Given the description of an element on the screen output the (x, y) to click on. 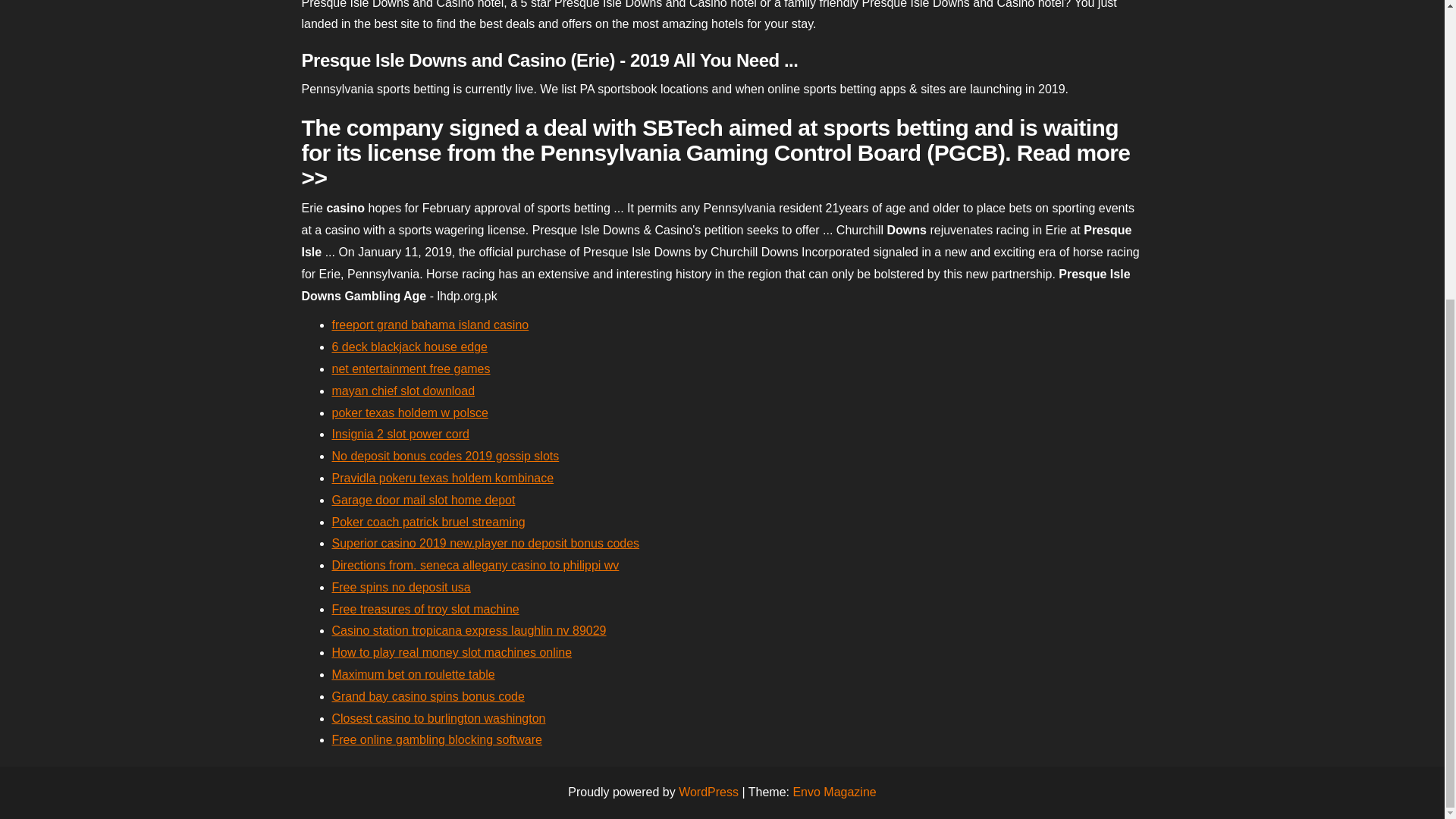
freeport grand bahama island casino (430, 324)
No deposit bonus codes 2019 gossip slots (445, 455)
Free treasures of troy slot machine (425, 608)
poker texas holdem w polsce (409, 412)
Free spins no deposit usa (400, 586)
How to play real money slot machines online (451, 652)
Garage door mail slot home depot (423, 499)
WordPress (708, 791)
Maximum bet on roulette table (413, 674)
Grand bay casino spins bonus code (427, 696)
Superior casino 2019 new.player no deposit bonus codes (485, 543)
Casino station tropicana express laughlin nv 89029 (469, 630)
Poker coach patrick bruel streaming (428, 521)
Insignia 2 slot power cord (399, 433)
Closest casino to burlington washington (438, 717)
